Given the description of an element on the screen output the (x, y) to click on. 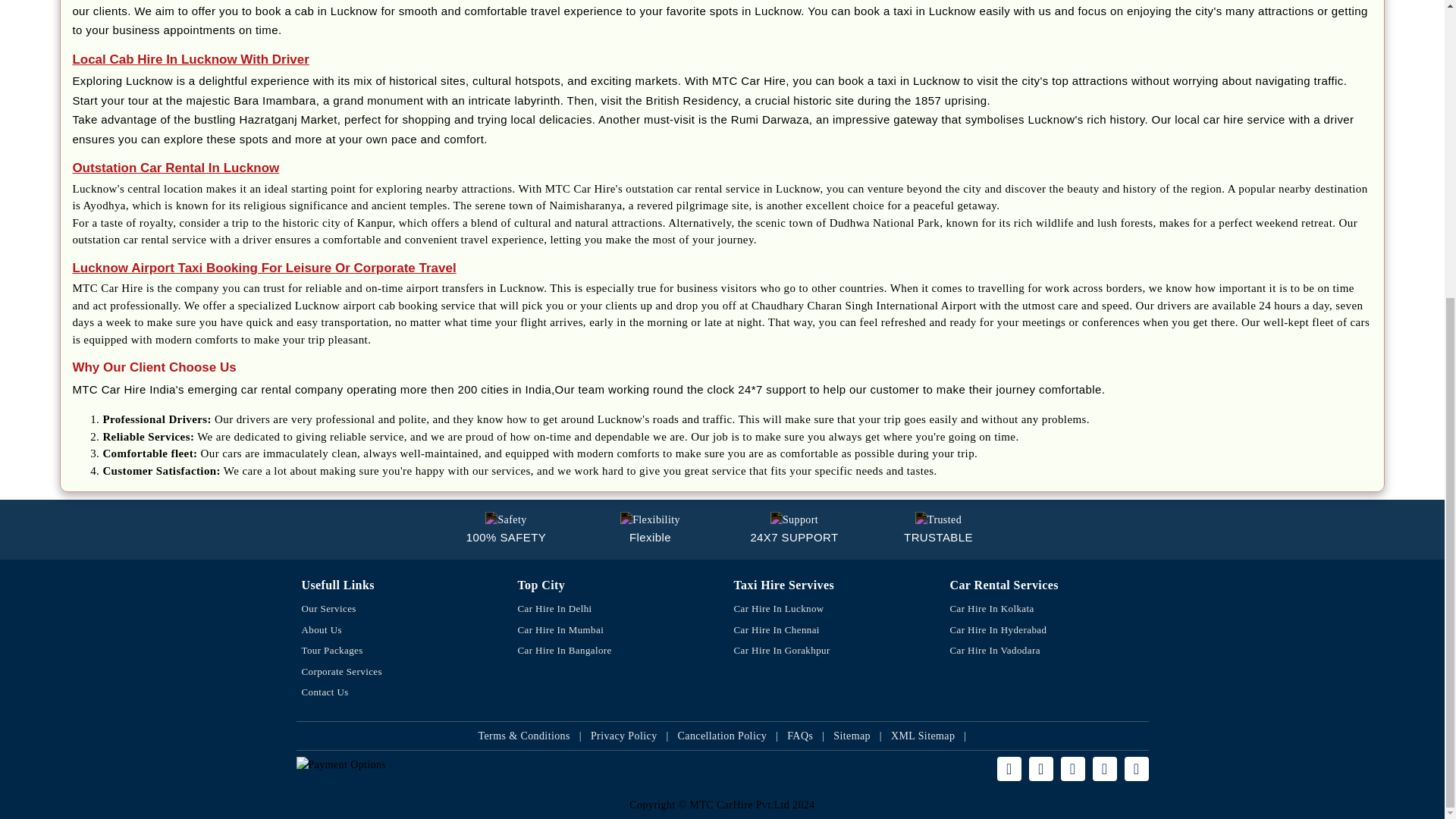
Car Hire In Mumbai (613, 629)
XML Sitemap (923, 736)
Car Hire In Kolkata (1045, 608)
Car Hire In Lucknow (830, 608)
Payment Options (502, 764)
Contact Us (398, 691)
Tour Packages (398, 649)
About Us (398, 629)
FAQs (799, 736)
Corporate Services (398, 671)
